Given the description of an element on the screen output the (x, y) to click on. 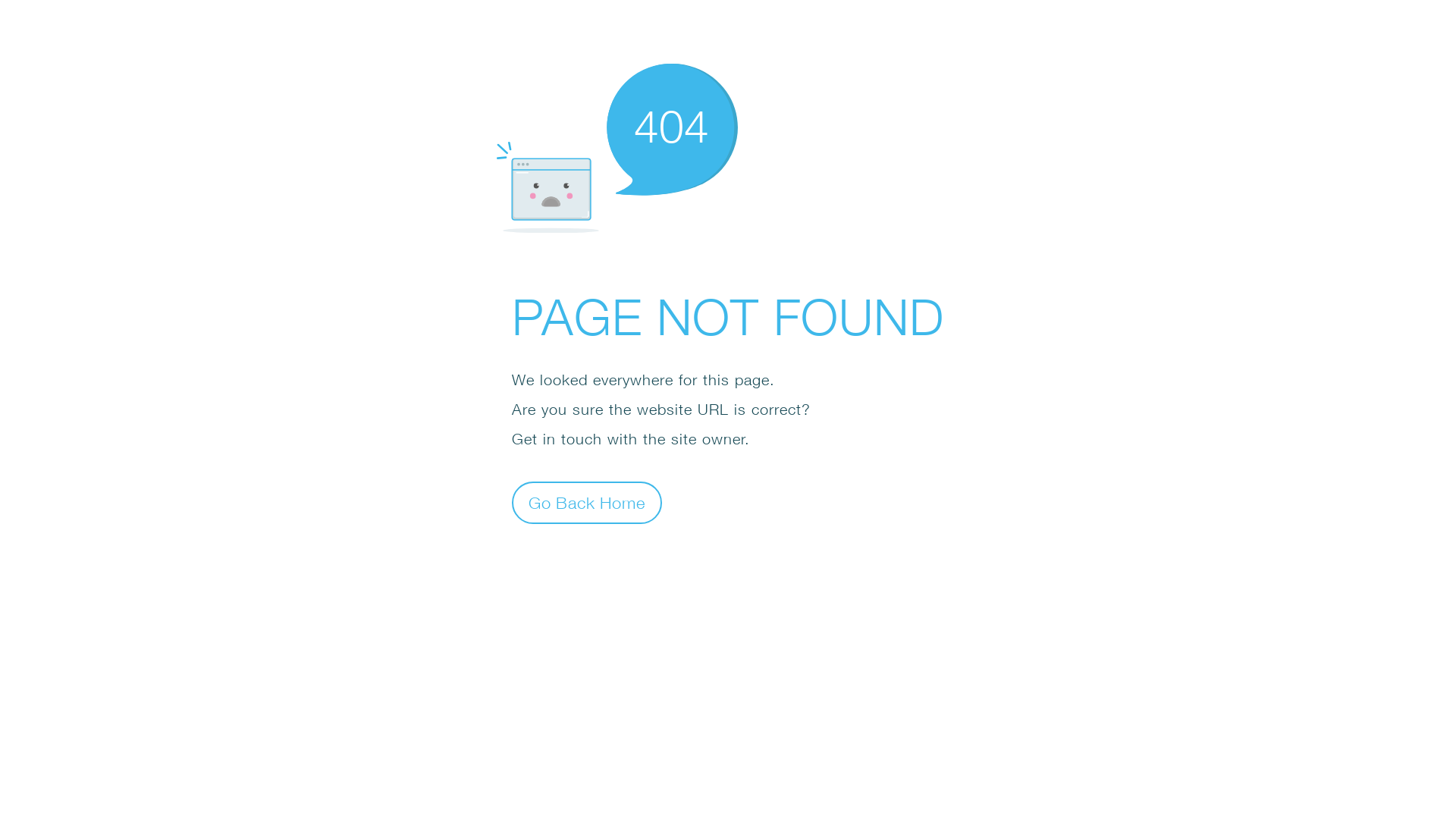
Go Back Home Element type: text (586, 502)
